Given the description of an element on the screen output the (x, y) to click on. 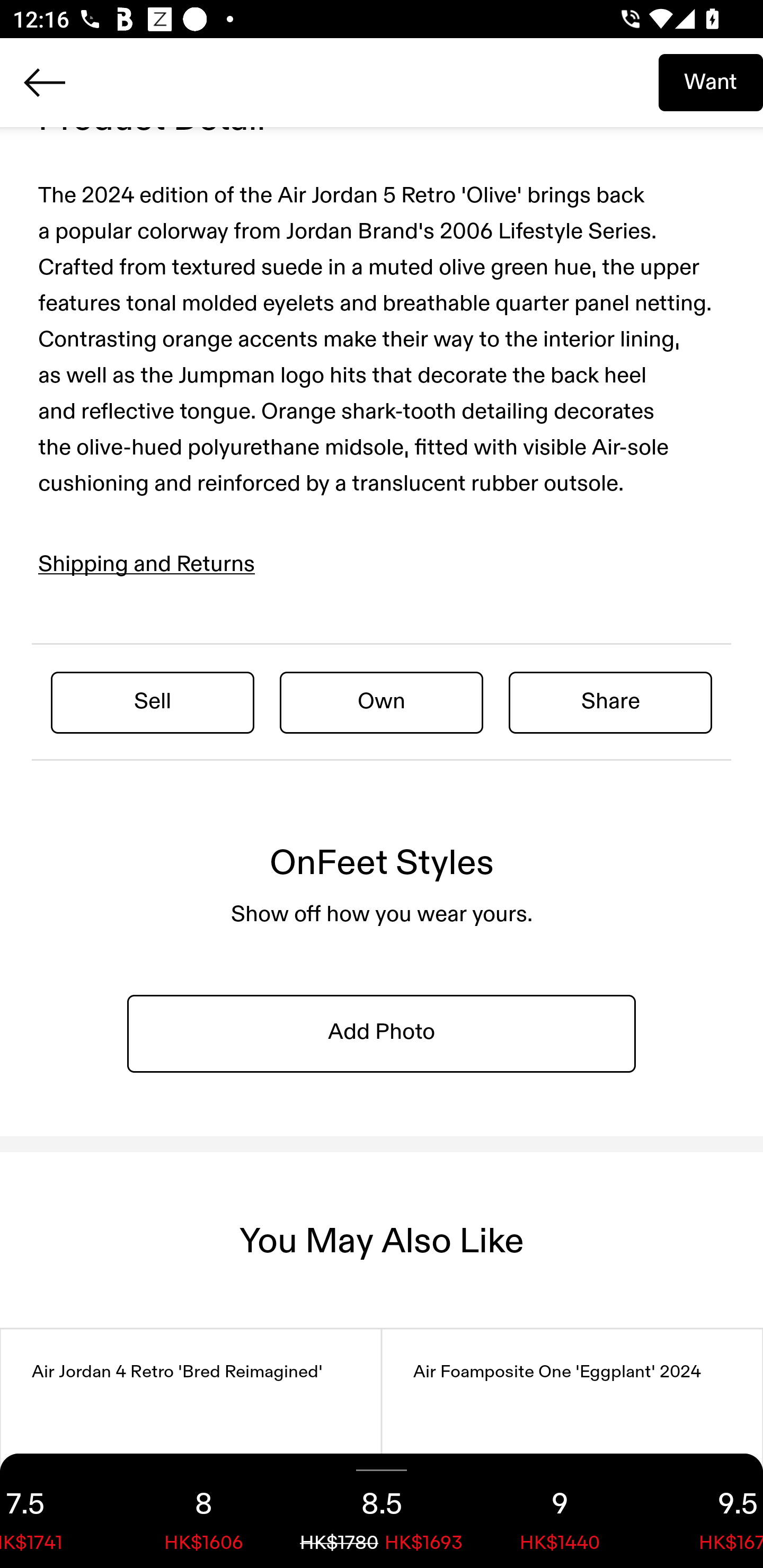
Want (710, 82)
Shipping and Returns (146, 564)
Sell (152, 701)
Own (381, 701)
Share (609, 701)
Add Photo (381, 1032)
Air Jordan 4 Retro 'Bred Reimagined' (190, 1448)
Air Foamposite One 'Eggplant' 2024 (572, 1448)
7.5 HK$1741 (57, 1510)
8 HK$1606 (203, 1510)
8.5 HK$1780 HK$1693 (381, 1510)
9 HK$1440 (559, 1510)
9.5 HK$1670 (705, 1510)
